Given the description of an element on the screen output the (x, y) to click on. 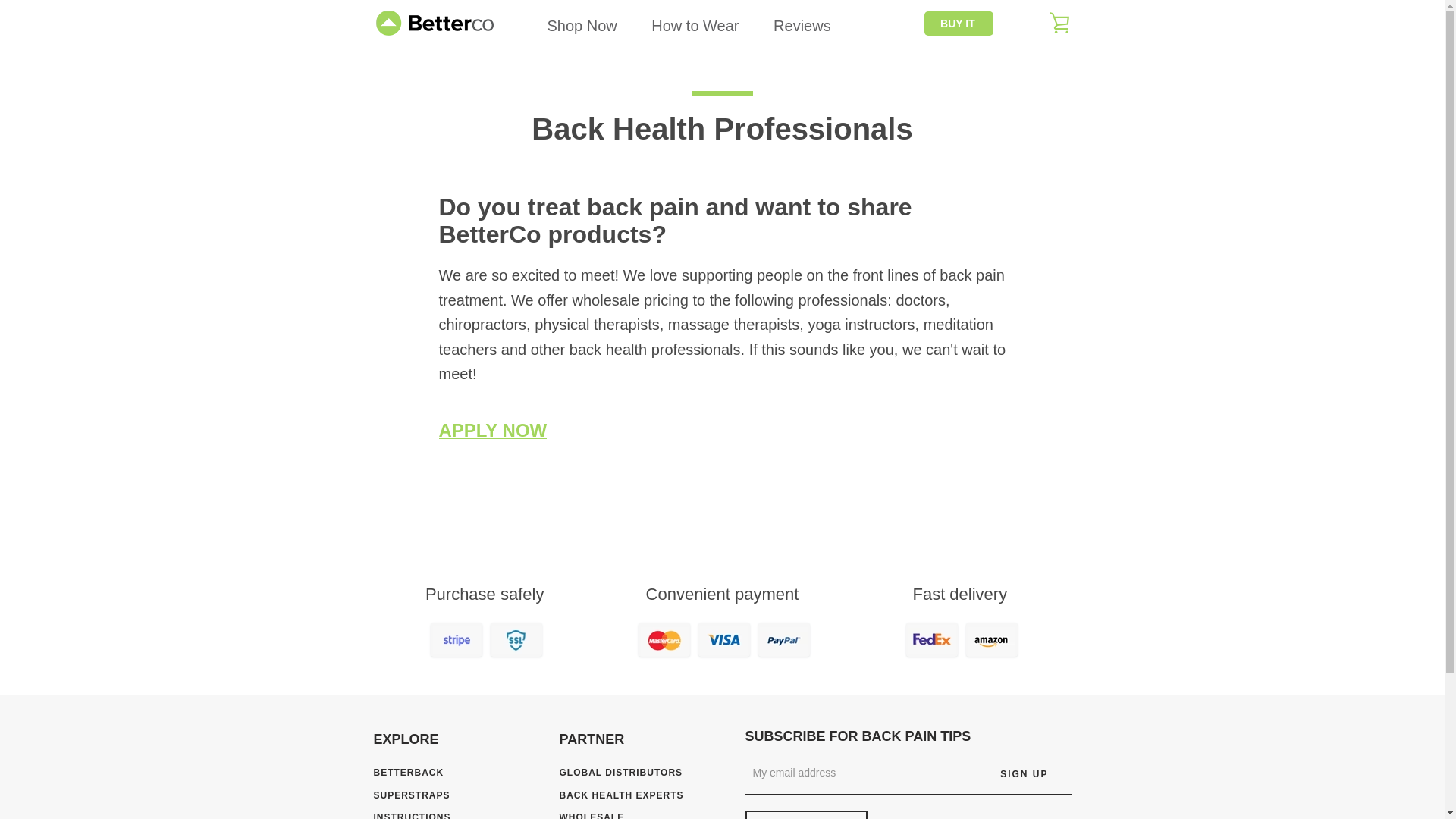
INSTRUCTIONS (410, 815)
BETTERBACK (408, 772)
BACK HEALTH EXPERTS (621, 795)
SUPERSTRAPS (410, 795)
Sign up (1023, 774)
Reviews (802, 24)
Shop Now (581, 24)
How to Wear (694, 24)
BUY IT (958, 23)
